Given the description of an element on the screen output the (x, y) to click on. 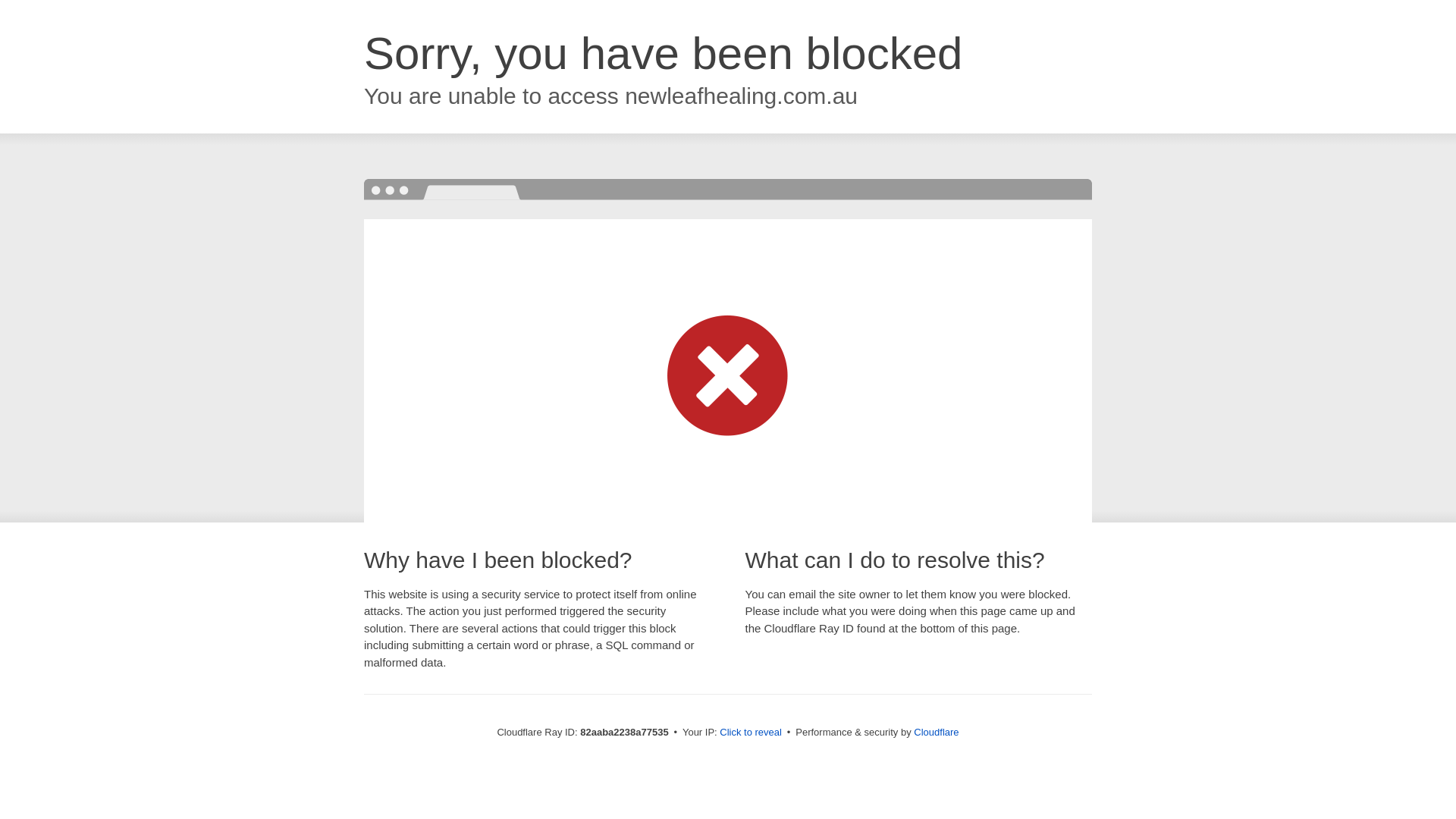
Click to reveal Element type: text (750, 732)
Cloudflare Element type: text (935, 731)
